Given the description of an element on the screen output the (x, y) to click on. 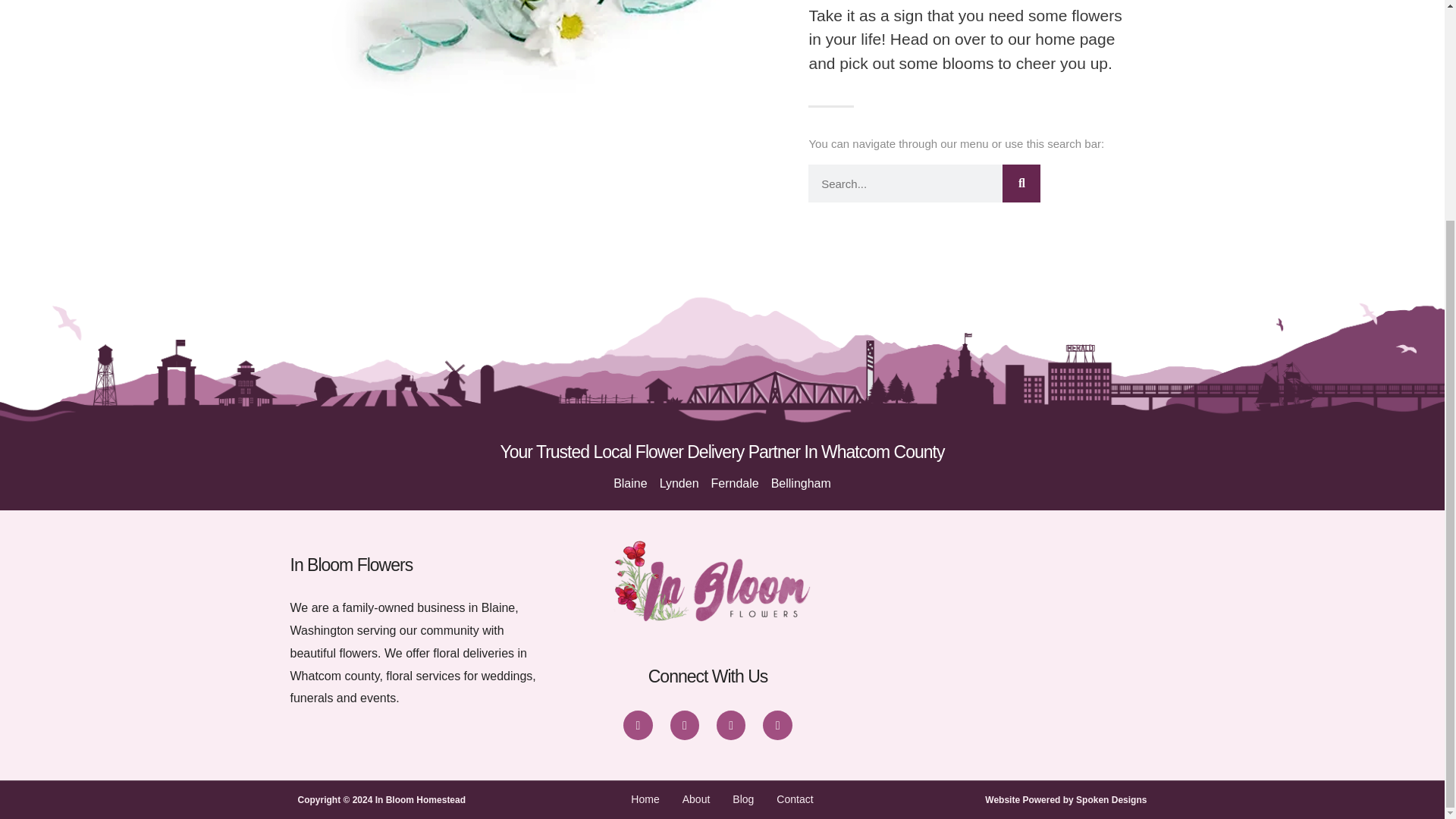
Home (644, 799)
About (696, 799)
Blog (743, 799)
Facebook-f (637, 724)
Blaine (629, 483)
Sms (777, 724)
Phone (730, 724)
Instagram (683, 724)
Spoken Designs (1111, 799)
Contact (794, 799)
Bellingham (801, 483)
Lynden (678, 483)
Search (1022, 183)
Ferndale (734, 483)
